Given the description of an element on the screen output the (x, y) to click on. 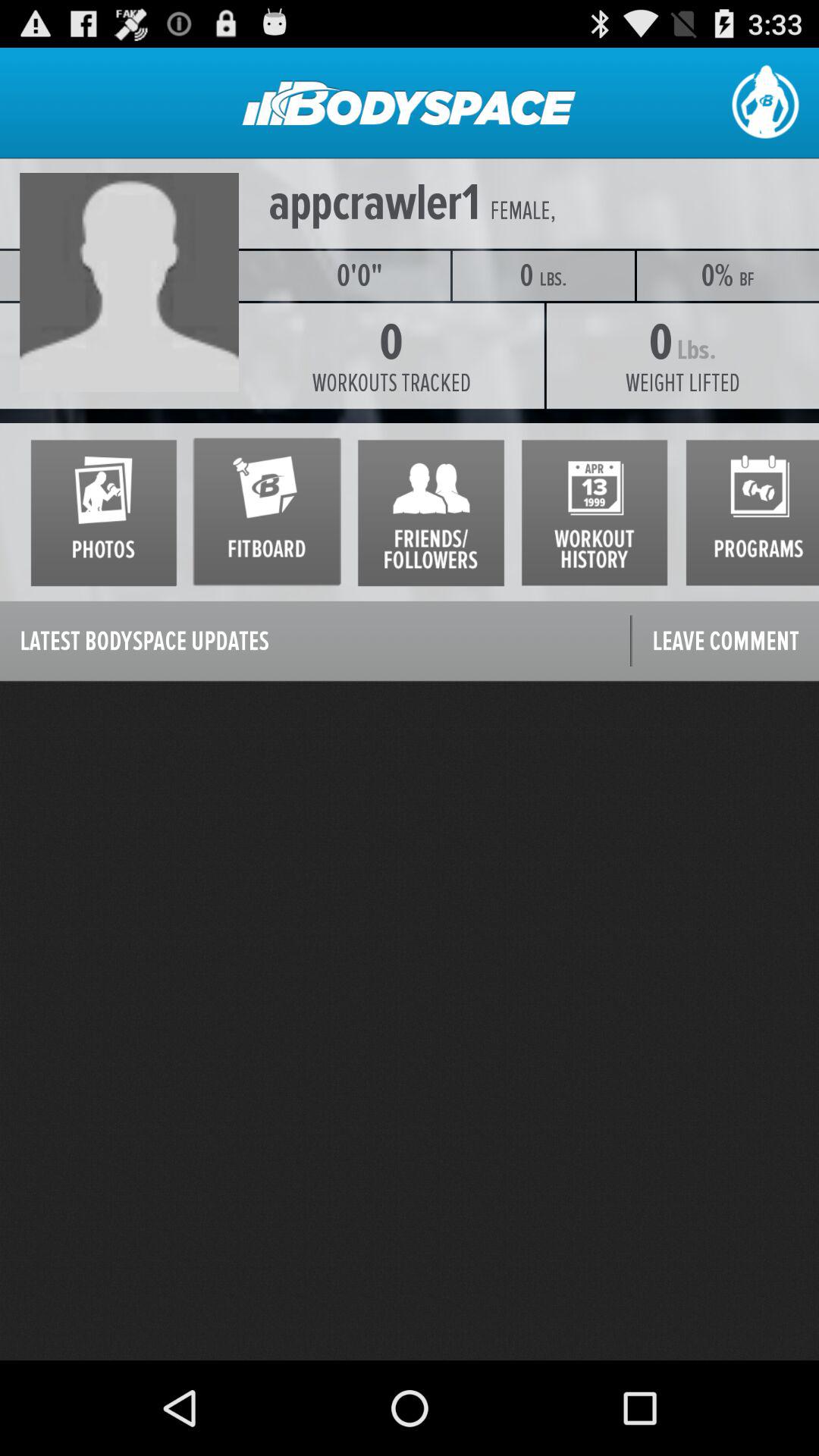
choose the item below the lbs. item (682, 382)
